Given the description of an element on the screen output the (x, y) to click on. 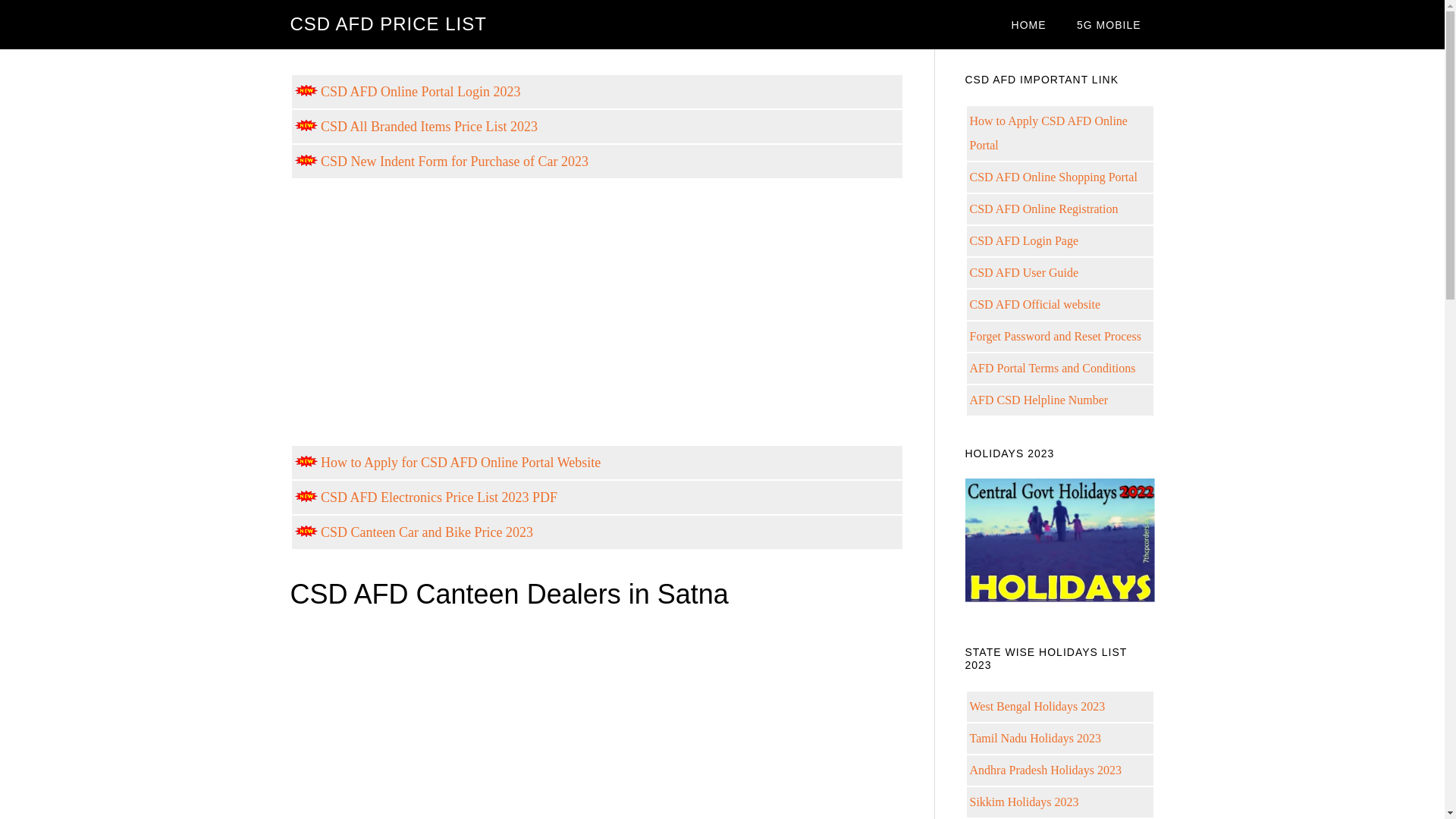
CSD AFD Login Page (1023, 240)
AFD CSD Helpline Number (1038, 399)
West Bengal Holidays 2023 (1037, 706)
CSD All Branded Items Price List 2023 (415, 126)
CSD AFD Official website (1034, 304)
AFD Portal Terms and Conditions (1052, 367)
Forget Password and Reset Process (1054, 336)
5G MOBILE (1108, 24)
CSD Canteen Car and Bike Price 2023 (413, 531)
How to Apply CSD AFD Online Portal (1047, 132)
CSD AFD PRICE LIST (387, 23)
HOME (1028, 24)
CSD AFD User Guide (1023, 272)
Andhra Pradesh Holidays 2023 (1045, 769)
CSD AFD Electronics Price List 2023 PDF (425, 497)
